Given the description of an element on the screen output the (x, y) to click on. 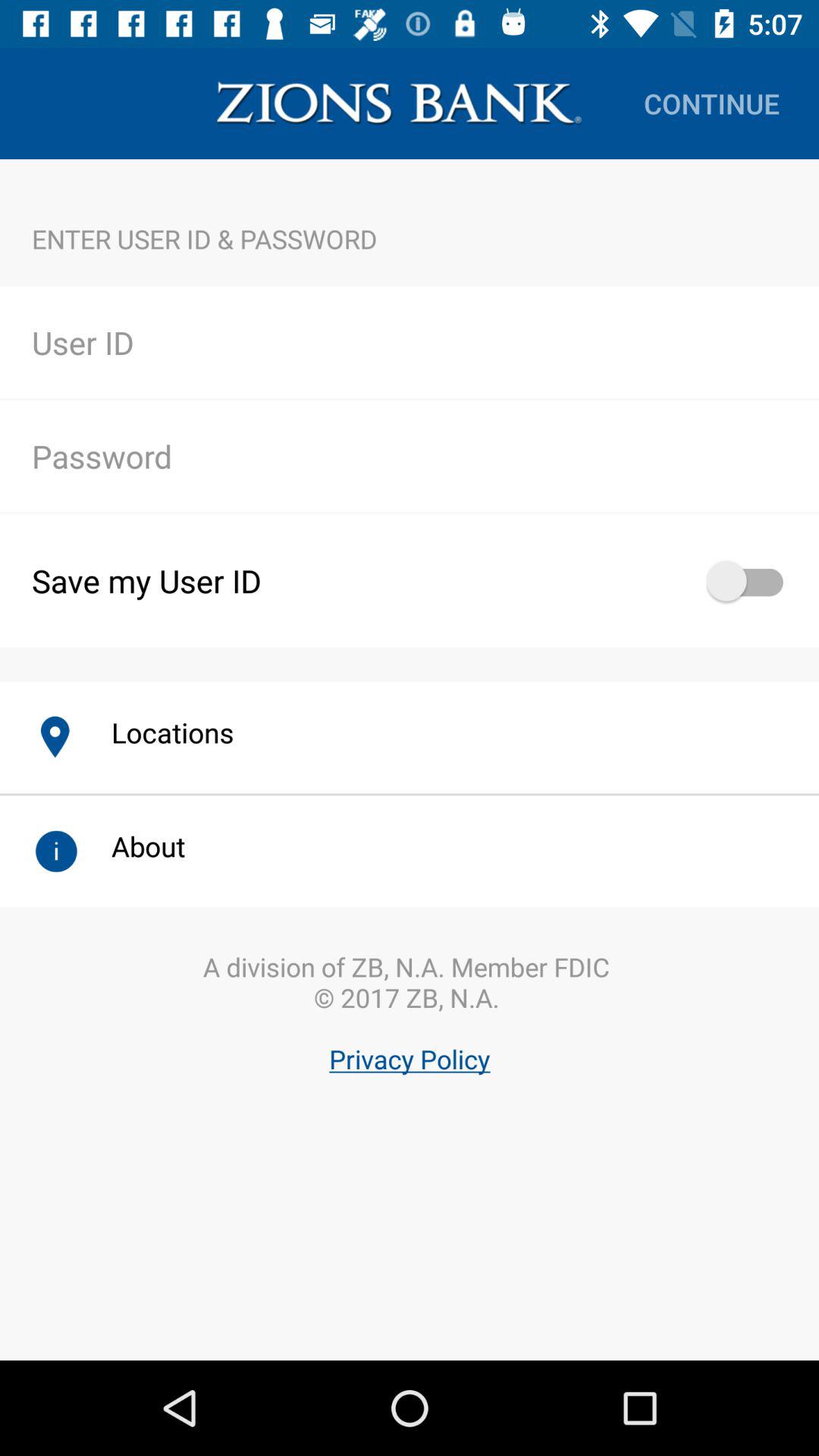
press the app below locations (409, 1053)
